Given the description of an element on the screen output the (x, y) to click on. 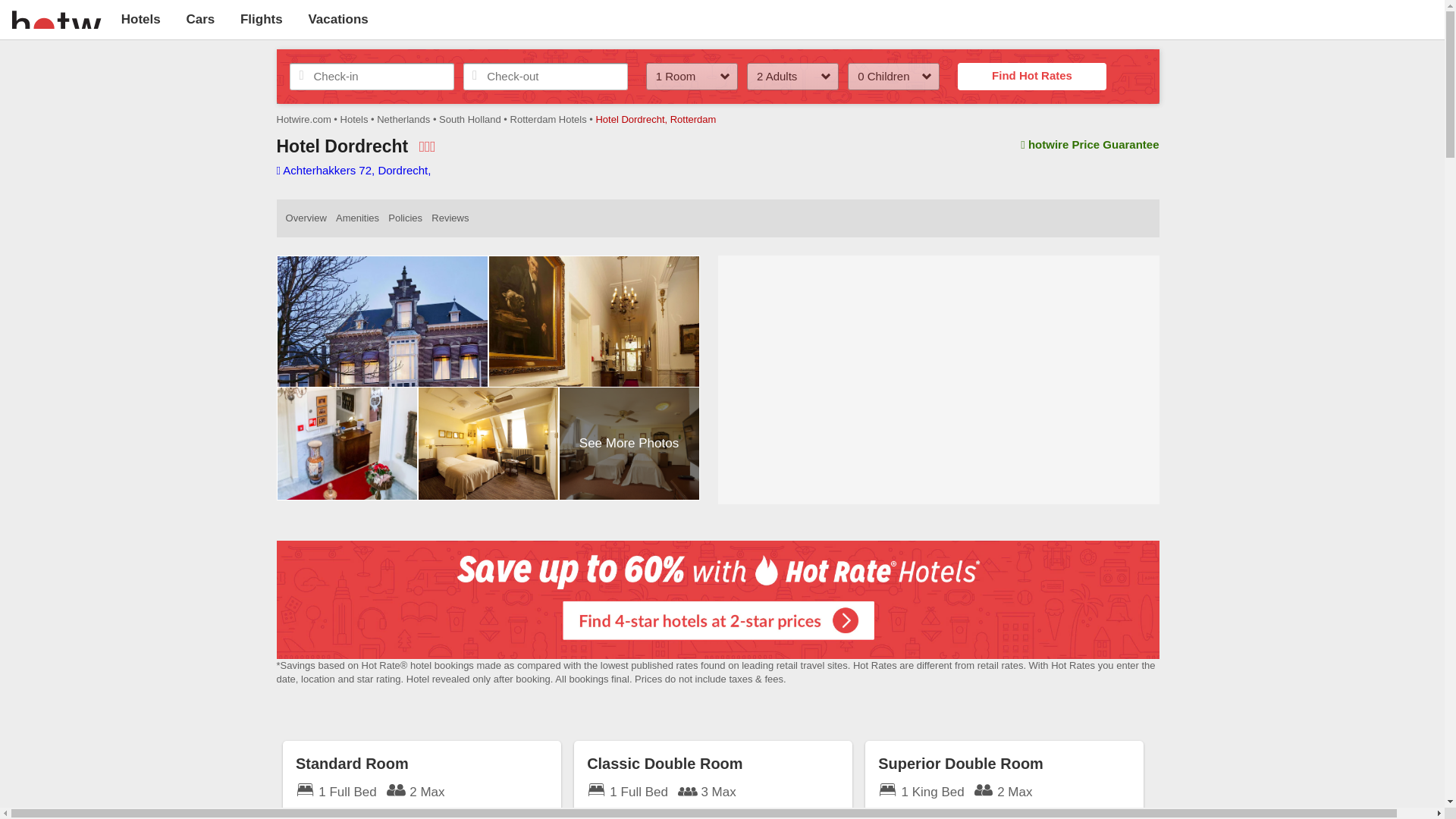
Flights (261, 19)
Hotwire (56, 18)
Vacations (337, 19)
Cars (200, 19)
Hotels (140, 19)
